Given the description of an element on the screen output the (x, y) to click on. 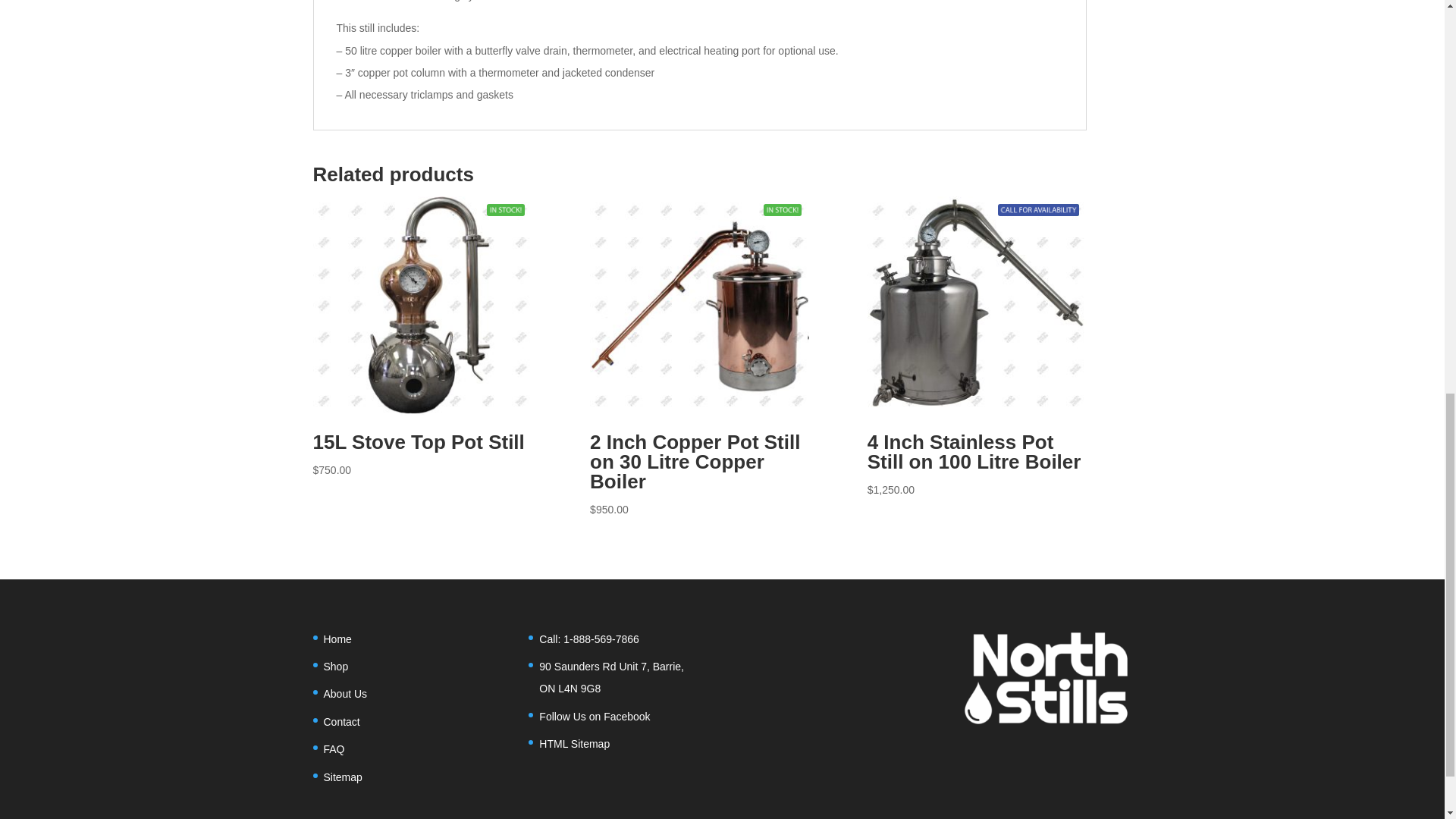
Home (336, 639)
Shop (335, 666)
